Given the description of an element on the screen output the (x, y) to click on. 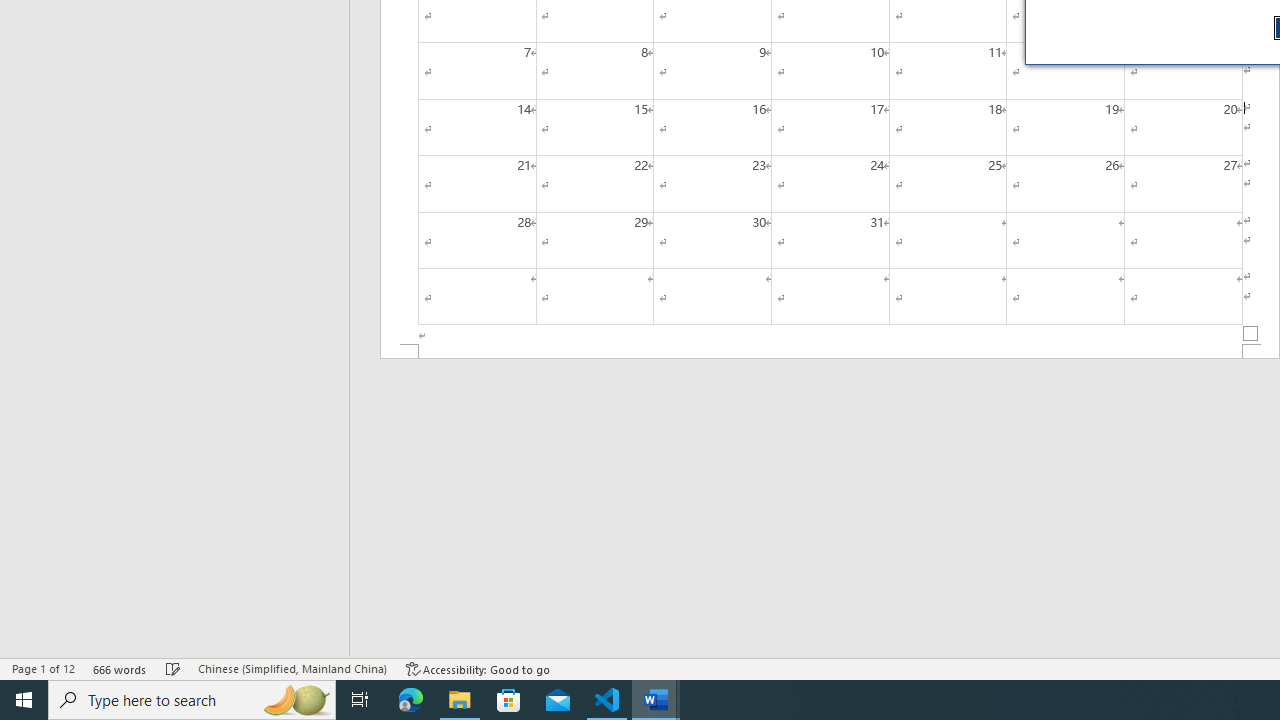
Start (24, 699)
Visual Studio Code - 1 running window (607, 699)
